Given the description of an element on the screen output the (x, y) to click on. 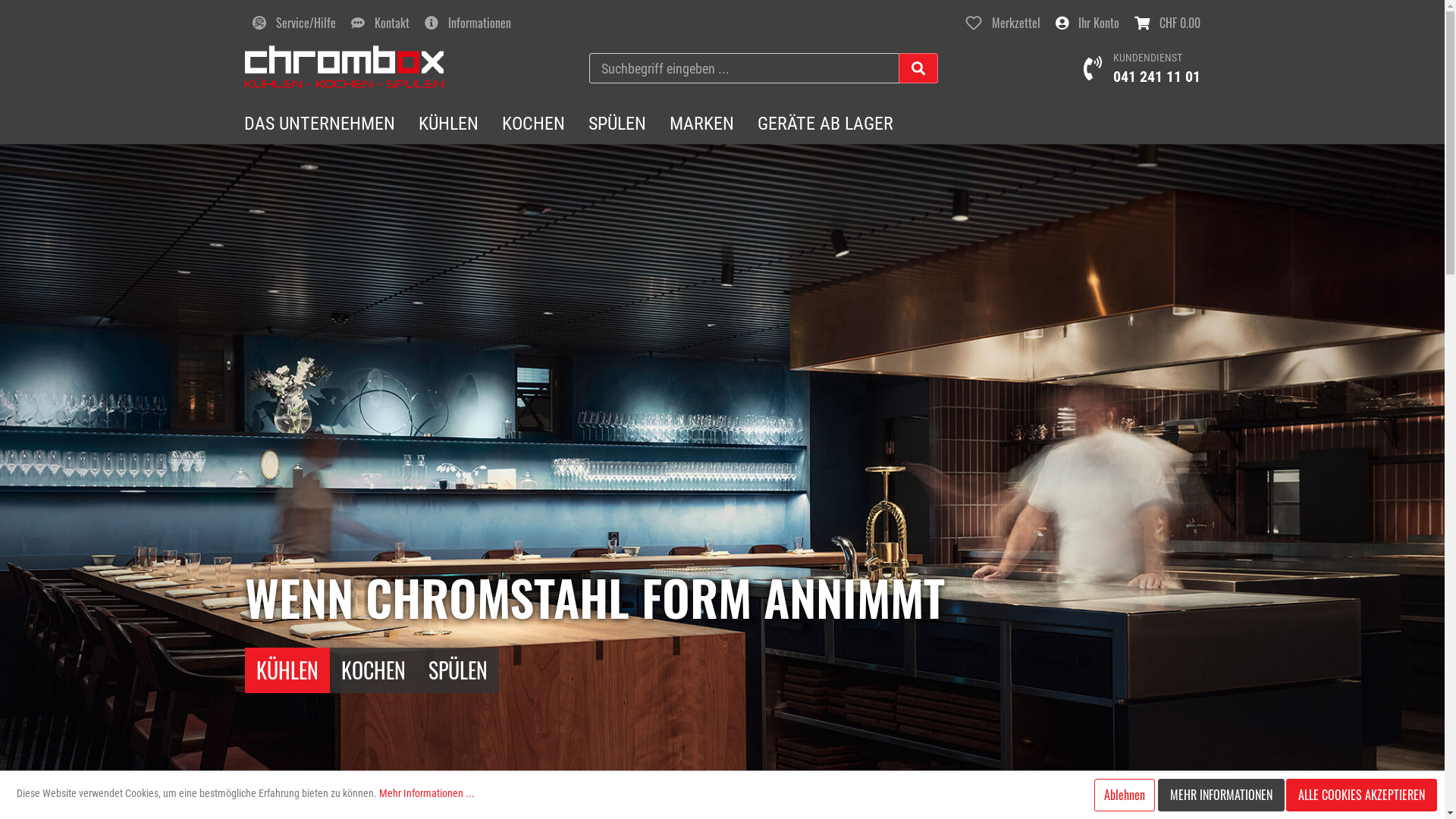
MARKEN Element type: text (701, 123)
ALLE COOKIES AKZEPTIEREN Element type: text (1361, 794)
CHF 0.00 Element type: text (1167, 22)
KOCHEN Element type: text (533, 123)
Ihr Konto Element type: text (1087, 22)
041 241 11 01 Element type: text (1156, 76)
Ablehnen Element type: text (1124, 794)
Zur Startseite gehen Element type: hover (343, 66)
MEHR INFORMATIONEN Element type: text (1220, 794)
Merkzettel Element type: text (1001, 22)
DAS UNTERNEHMEN Element type: text (319, 123)
Mehr Informationen ... Element type: text (426, 792)
